Given the description of an element on the screen output the (x, y) to click on. 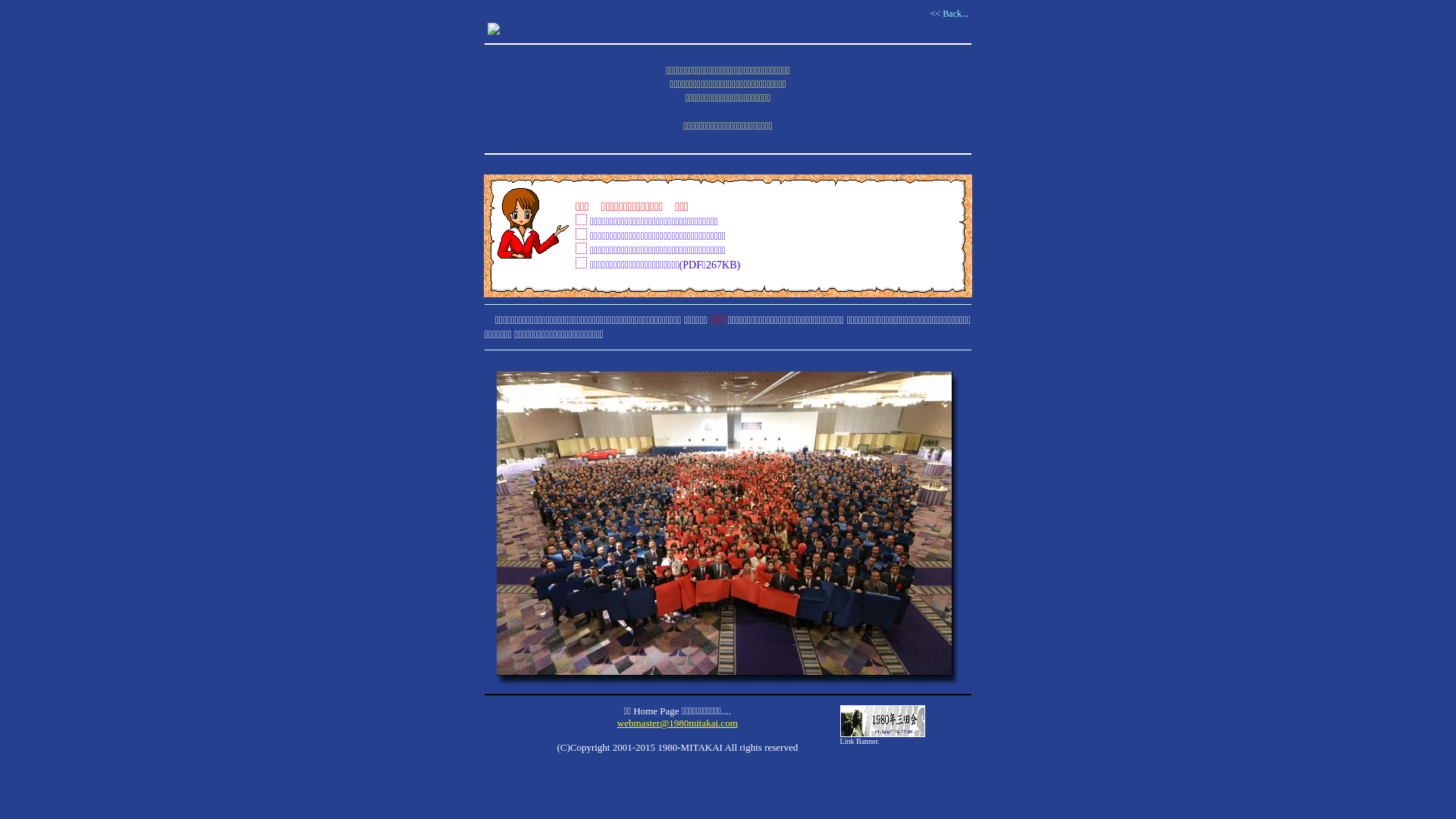
webmaster@1980mitakai.com Element type: text (677, 722)
<< Back... Element type: text (949, 13)
